Given the description of an element on the screen output the (x, y) to click on. 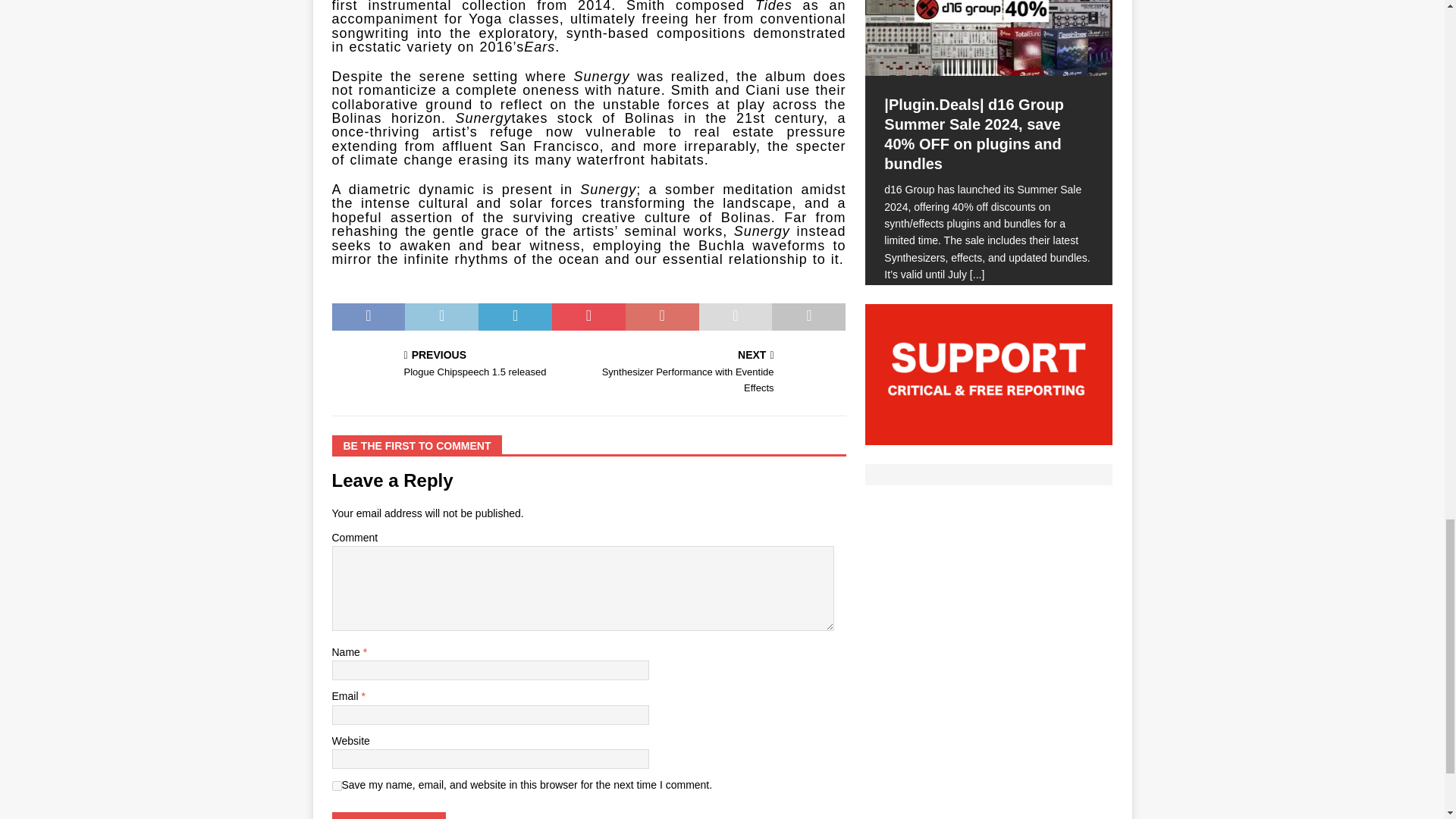
yes (336, 786)
Post Comment (388, 815)
